Given the description of an element on the screen output the (x, y) to click on. 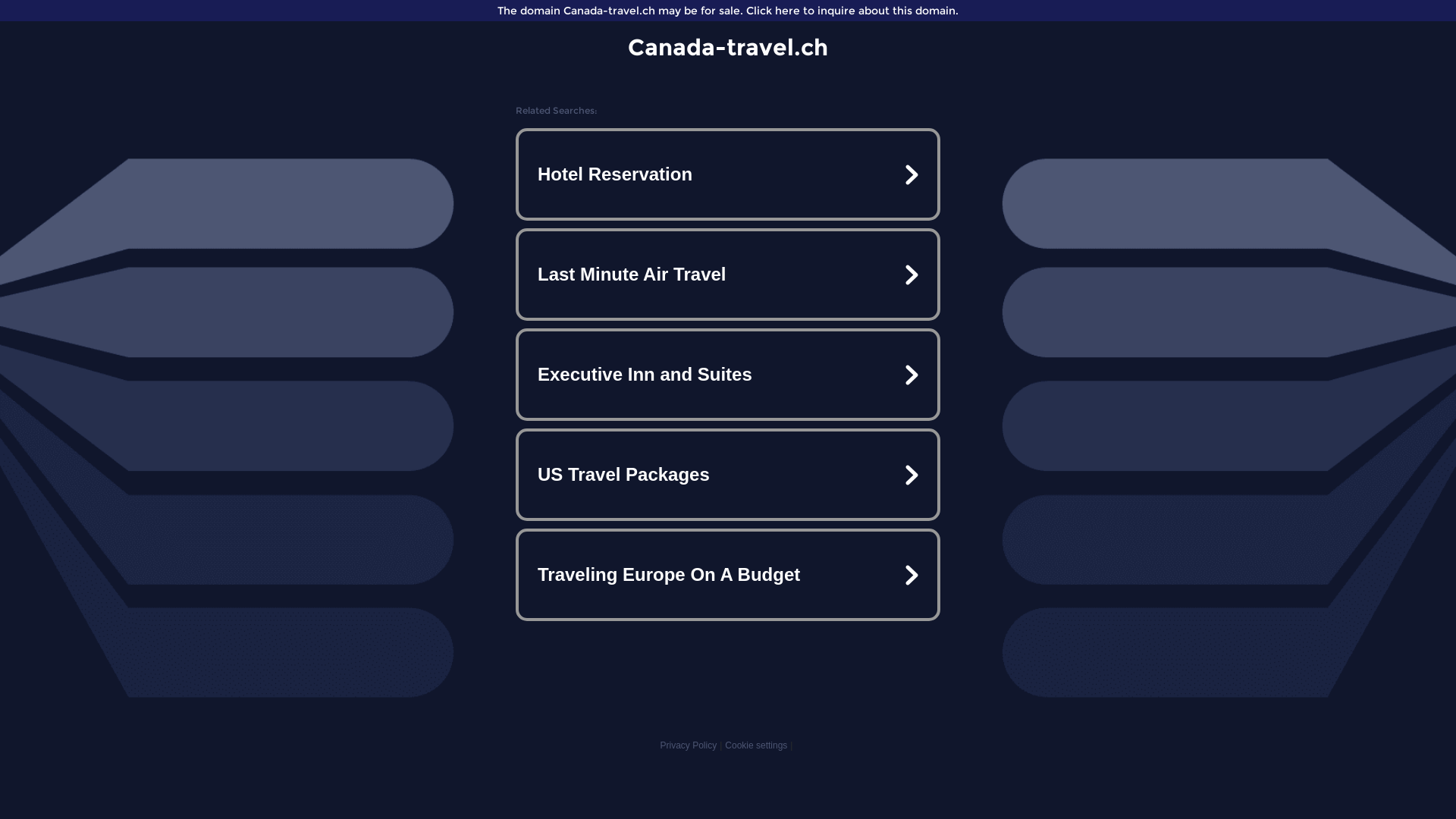
US Travel Packages Element type: text (727, 474)
Cookie settings Element type: text (755, 745)
Canada-travel.ch Element type: text (727, 47)
Traveling Europe On A Budget Element type: text (727, 574)
Privacy Policy Element type: text (687, 745)
Hotel Reservation Element type: text (727, 174)
Executive Inn and Suites Element type: text (727, 374)
Last Minute Air Travel Element type: text (727, 274)
